Given the description of an element on the screen output the (x, y) to click on. 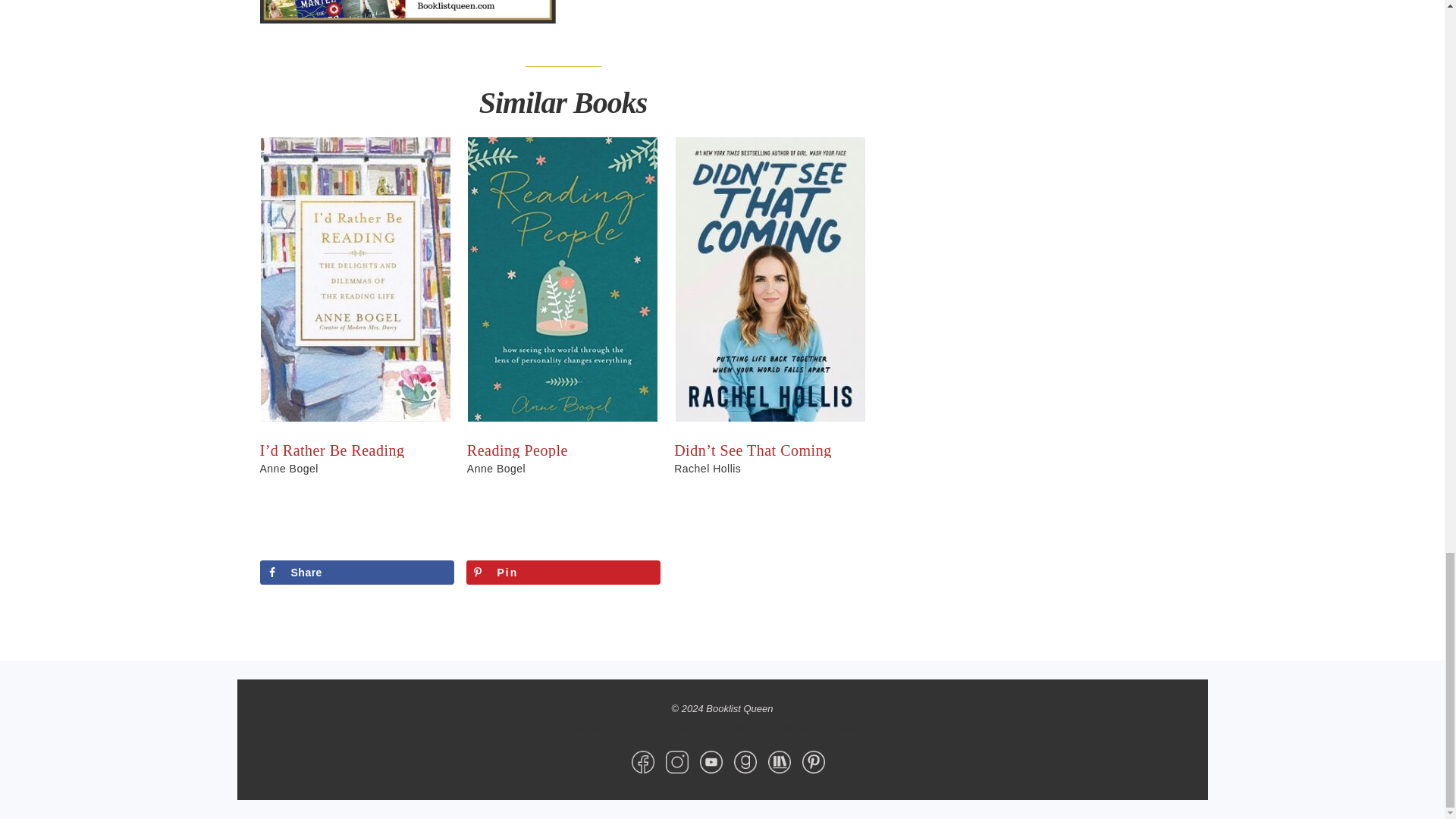
Share on X (768, 572)
Save to Pinterest (562, 572)
Share on Facebook (355, 572)
Reading People (517, 450)
